Given the description of an element on the screen output the (x, y) to click on. 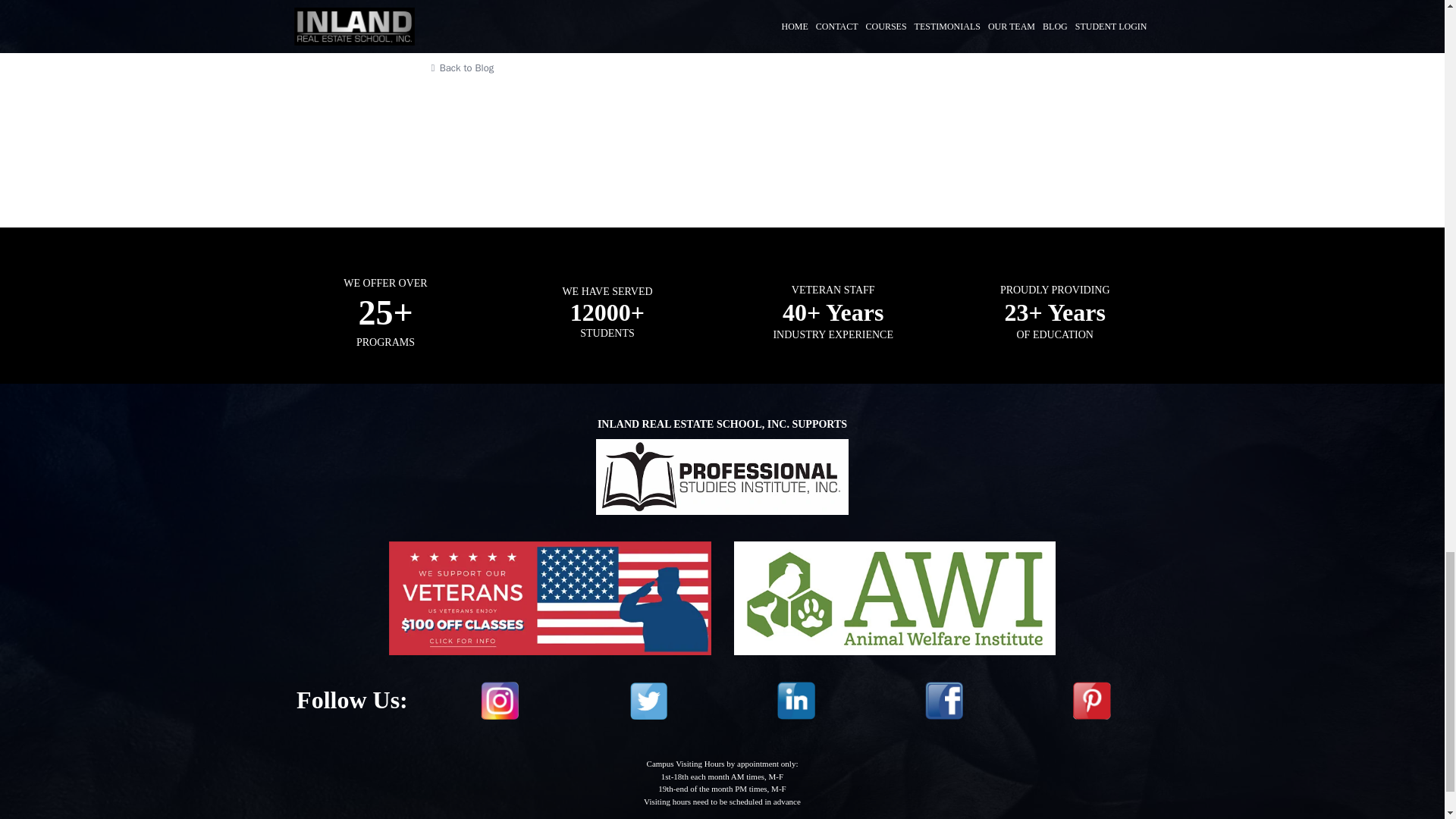
Back to Blog (695, 68)
